Given the description of an element on the screen output the (x, y) to click on. 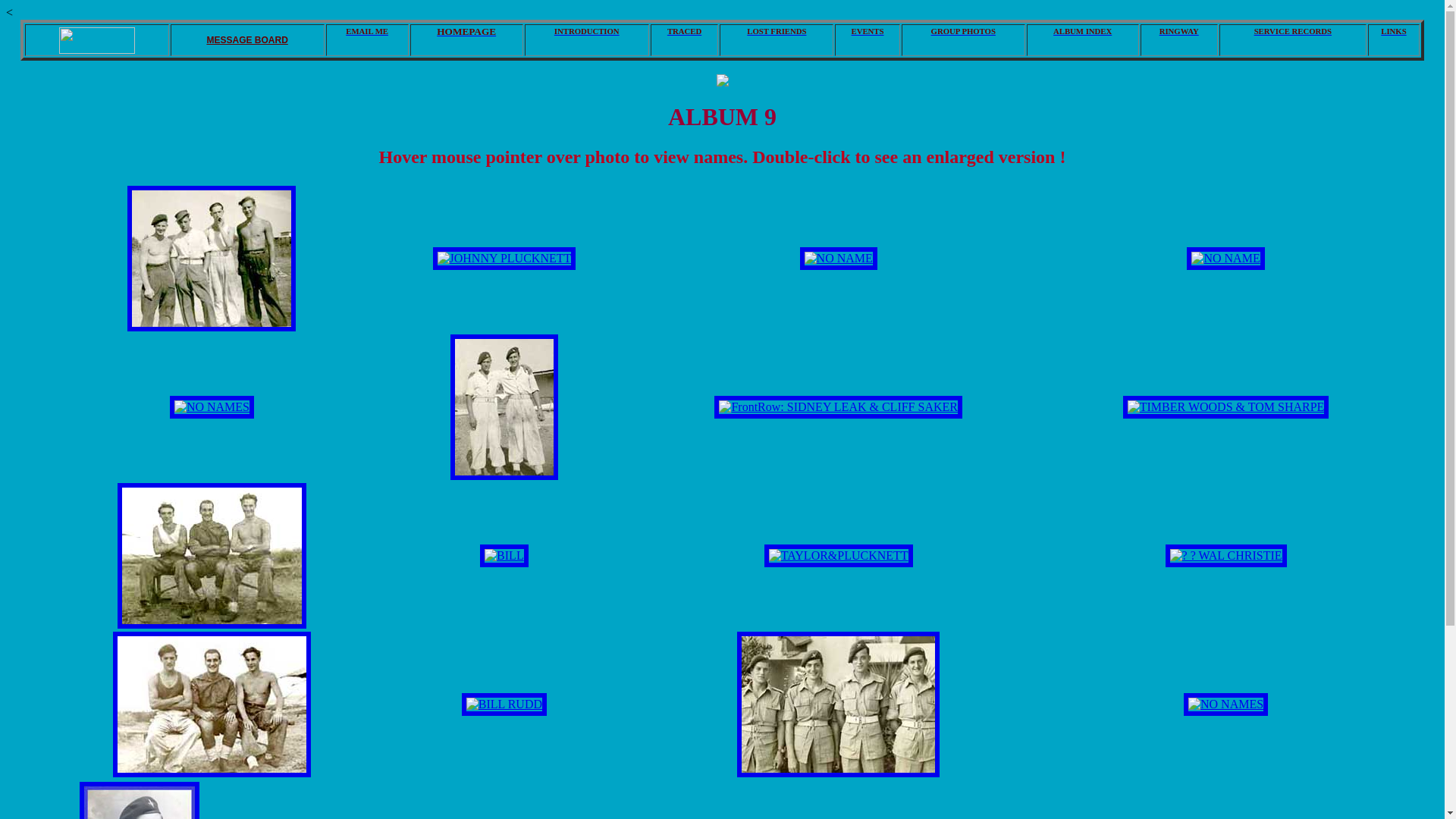
LOST FRIENDS Element type: text (776, 30)
GROUP PHOTOS Element type: text (963, 30)
TRACED Element type: text (684, 30)
RINGWAY Element type: text (1179, 30)
INTRODUCTION Element type: text (586, 30)
LINKS Element type: text (1392, 30)
SERVICE RECORDS Element type: text (1292, 30)
ALBUM INDEX Element type: text (1082, 30)
EMAIL ME Element type: text (367, 30)
HOMEPAGE Element type: text (466, 31)
MESSAGE BOARD Element type: text (246, 39)
EVENTS Element type: text (867, 30)
